Given the description of an element on the screen output the (x, y) to click on. 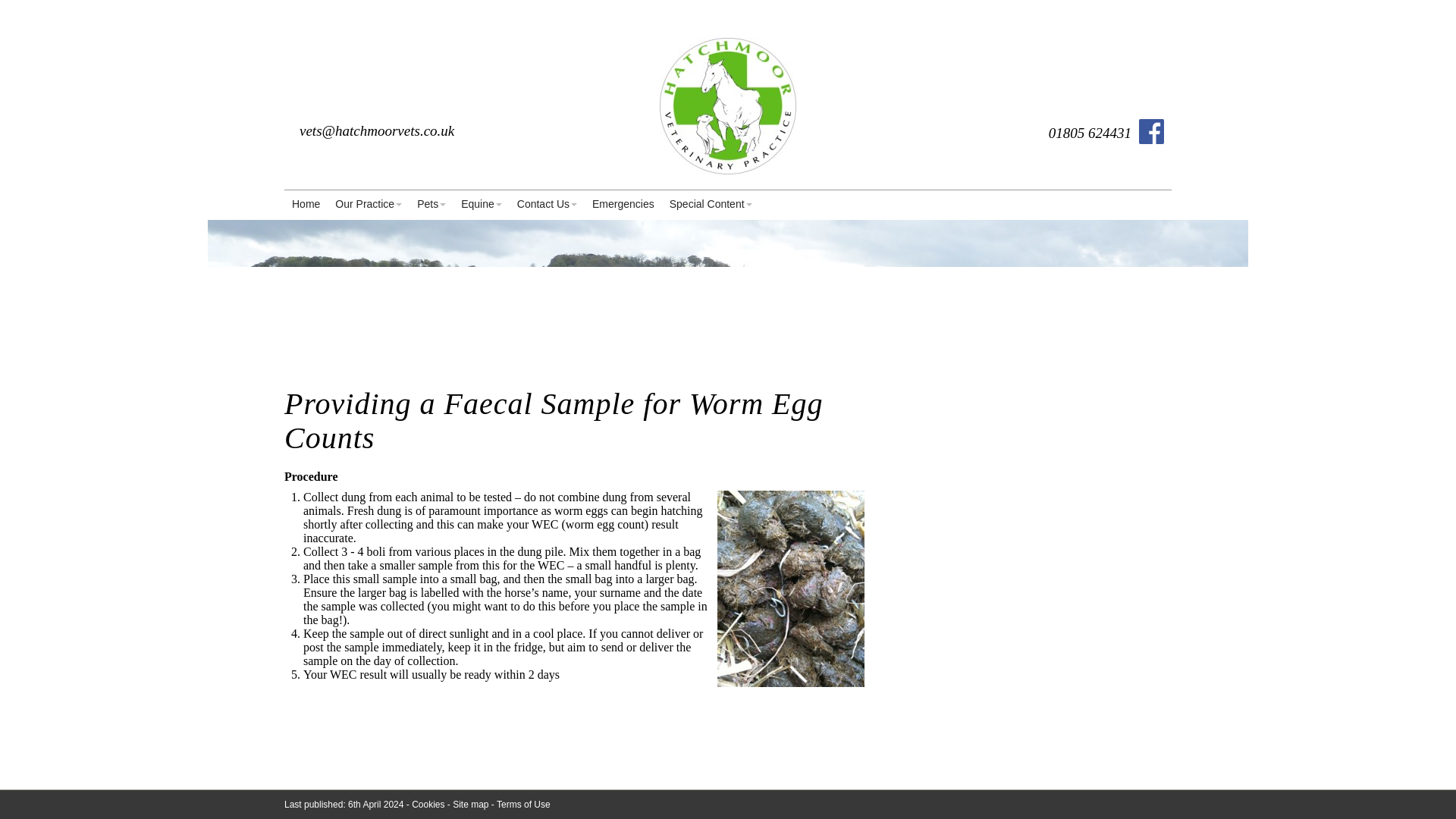
Equine (480, 205)
Pets (430, 205)
Emergencies (623, 205)
Home (305, 205)
Our Practice (368, 205)
Contact Us (547, 205)
Special Content (711, 205)
